Given the description of an element on the screen output the (x, y) to click on. 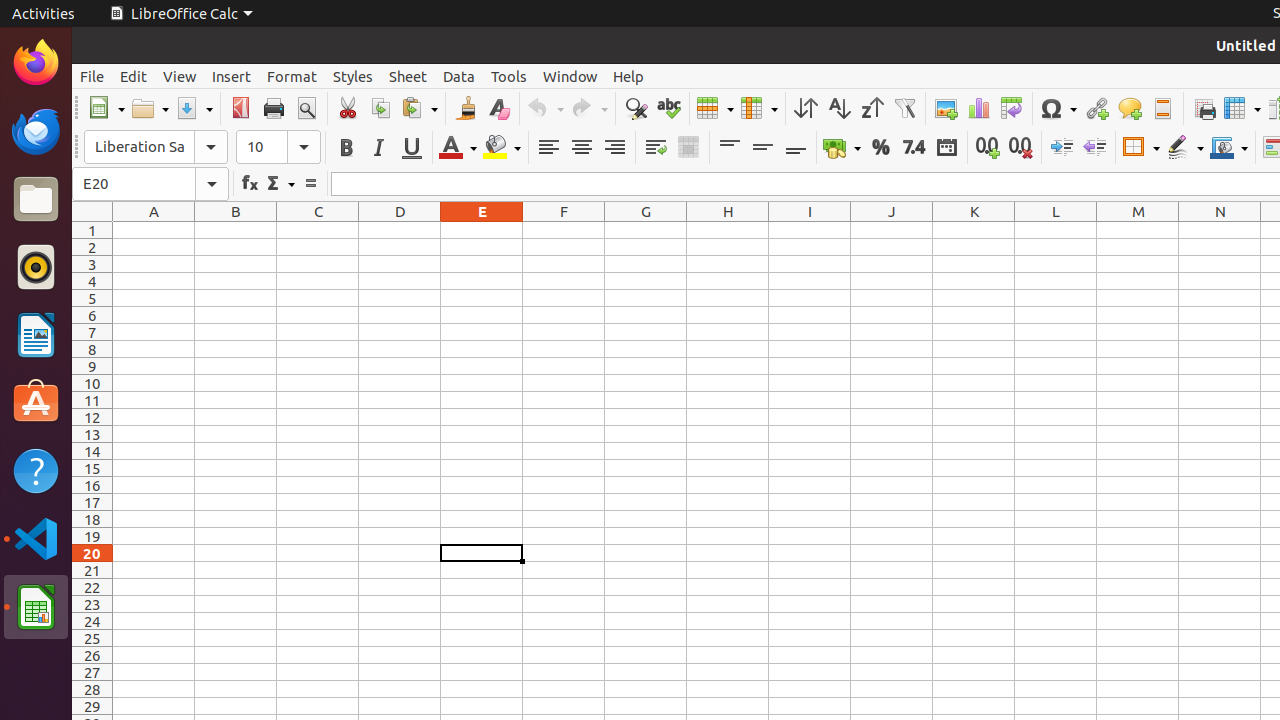
Align Bottom Element type: push-button (795, 147)
Delete Decimal Place Element type: push-button (1020, 147)
Redo Element type: push-button (589, 108)
Merge and Center Cells Element type: push-button (688, 147)
